Given the description of an element on the screen output the (x, y) to click on. 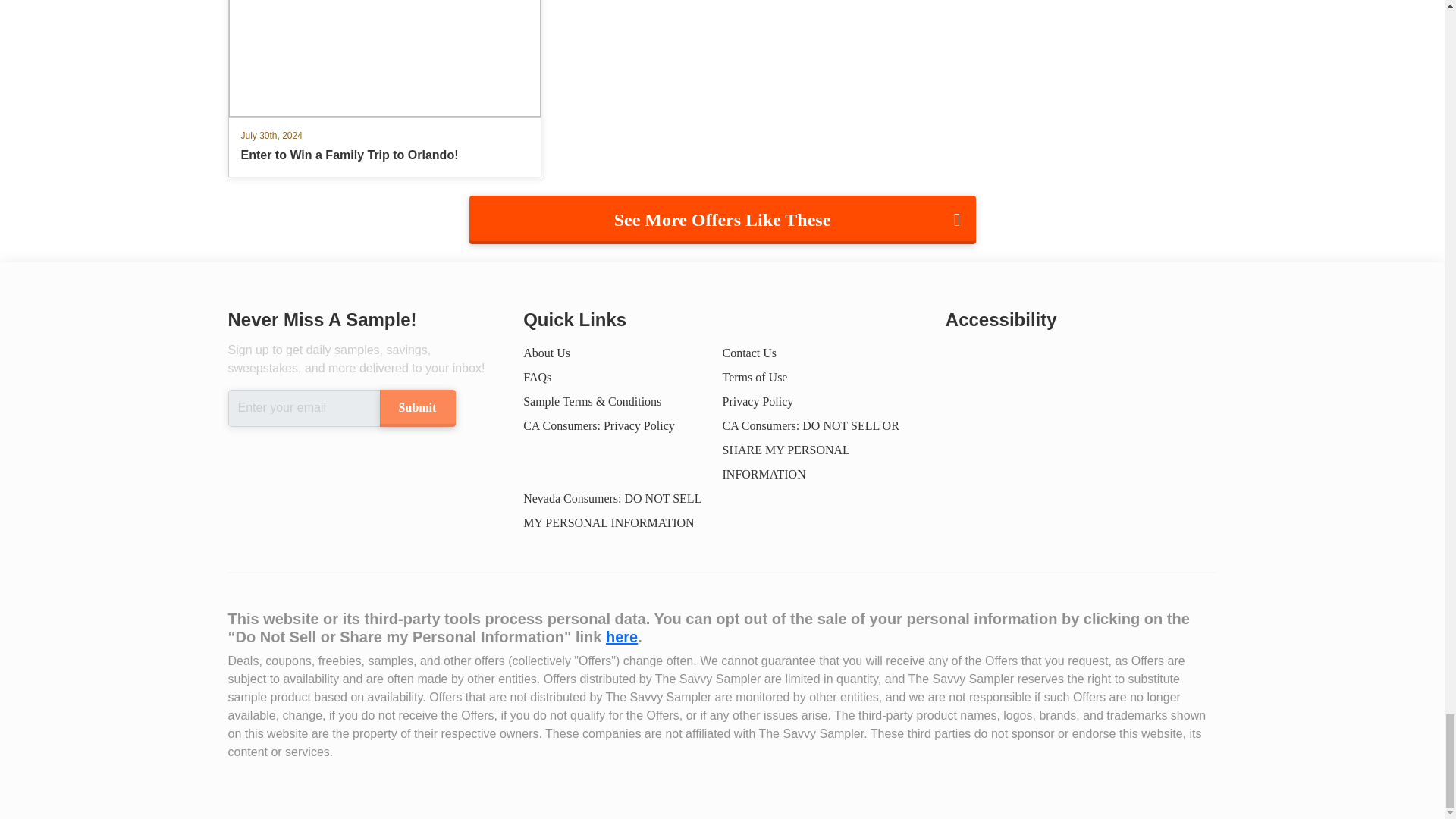
CA Consumers: DO NOT SELL OR SHARE MY PERSONAL INFORMATION (810, 449)
See More Offers Like These (721, 219)
Contact Us (749, 352)
here (621, 636)
Submit (416, 407)
CA Consumers: Privacy Policy (598, 425)
Terms of Use (754, 377)
FAQs (536, 377)
Privacy Policy (757, 400)
